Given the description of an element on the screen output the (x, y) to click on. 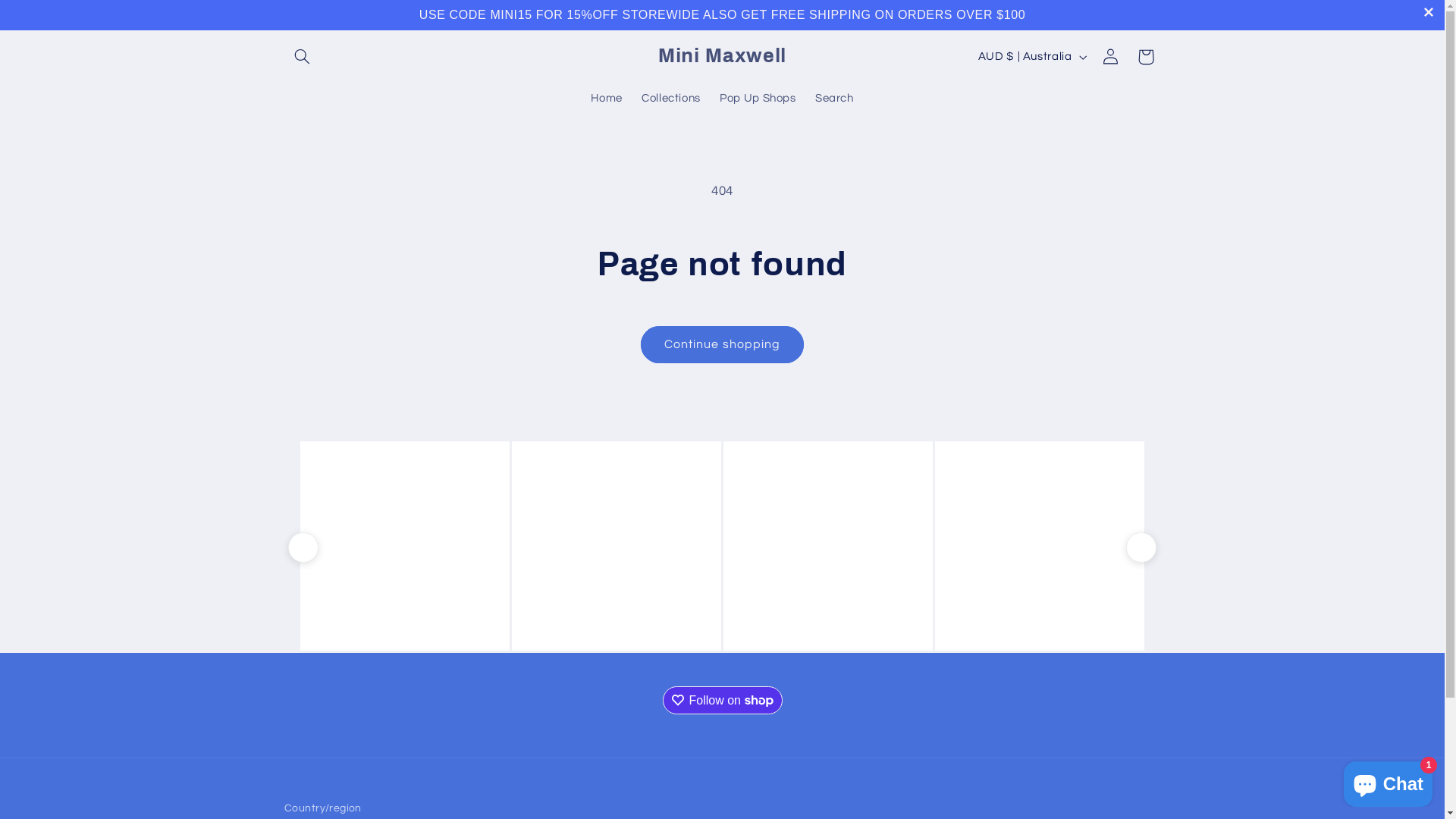
Shopify online store chat Element type: hover (1388, 780)
Search Element type: text (833, 99)
Continue shopping Element type: text (722, 344)
Home Element type: text (606, 99)
Collections Element type: text (670, 99)
Pop Up Shops Element type: text (758, 99)
Cart Element type: text (1145, 56)
Mini Maxwell Element type: text (722, 56)
Log in Element type: text (1110, 56)
AUD $ | Australia Element type: text (1030, 56)
